Given the description of an element on the screen output the (x, y) to click on. 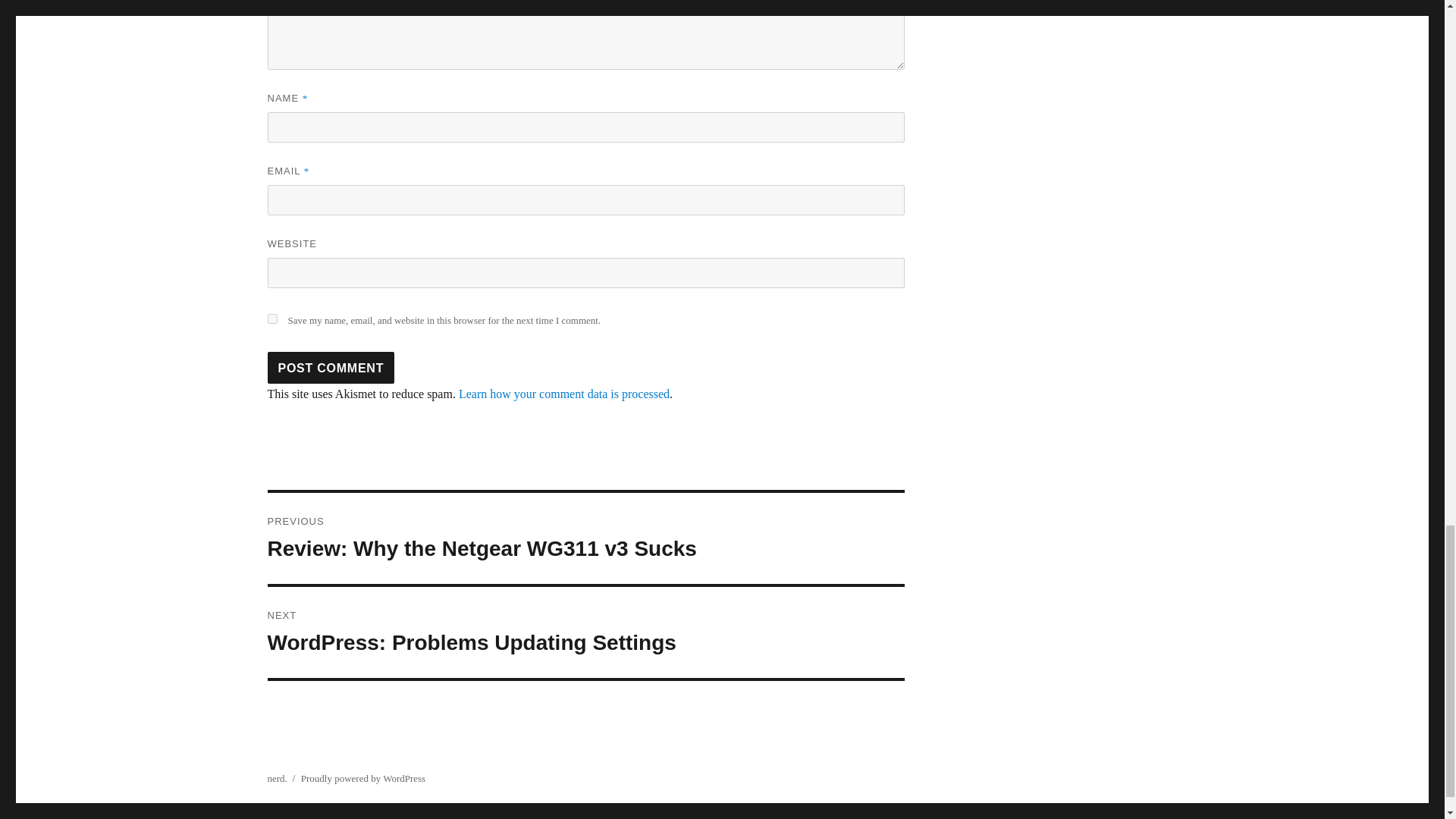
Proudly powered by WordPress (363, 778)
yes (271, 318)
Post Comment (330, 368)
nerd. (276, 778)
Post Comment (585, 632)
Learn how your comment data is processed (330, 368)
